Given the description of an element on the screen output the (x, y) to click on. 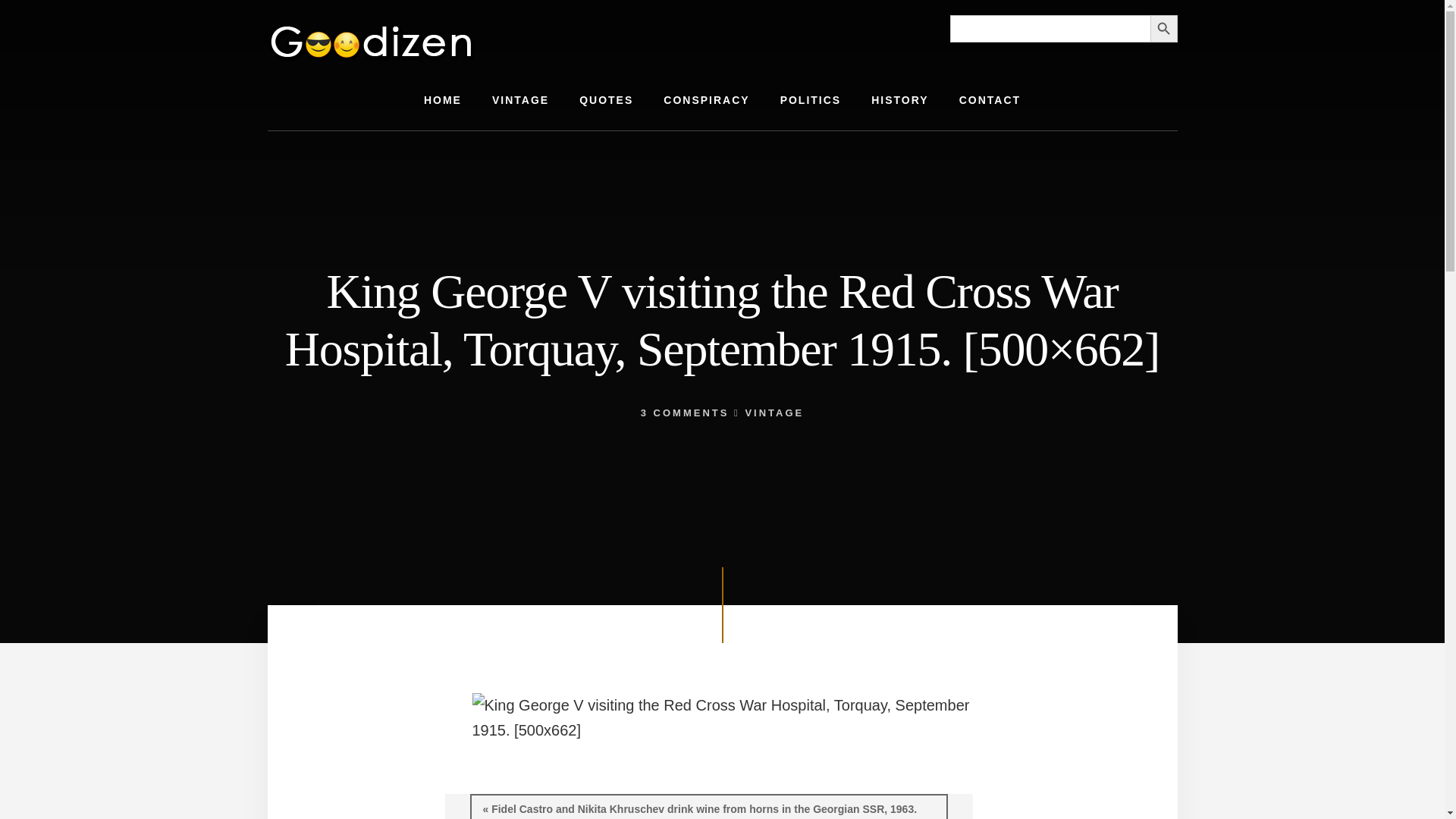
CONTACT (989, 100)
QUOTES (605, 100)
HISTORY (899, 100)
VINTAGE (520, 100)
CONSPIRACY (705, 100)
SEARCH BUTTON (1163, 28)
HOME (443, 100)
3 COMMENTS (684, 412)
POLITICS (811, 100)
